Given the description of an element on the screen output the (x, y) to click on. 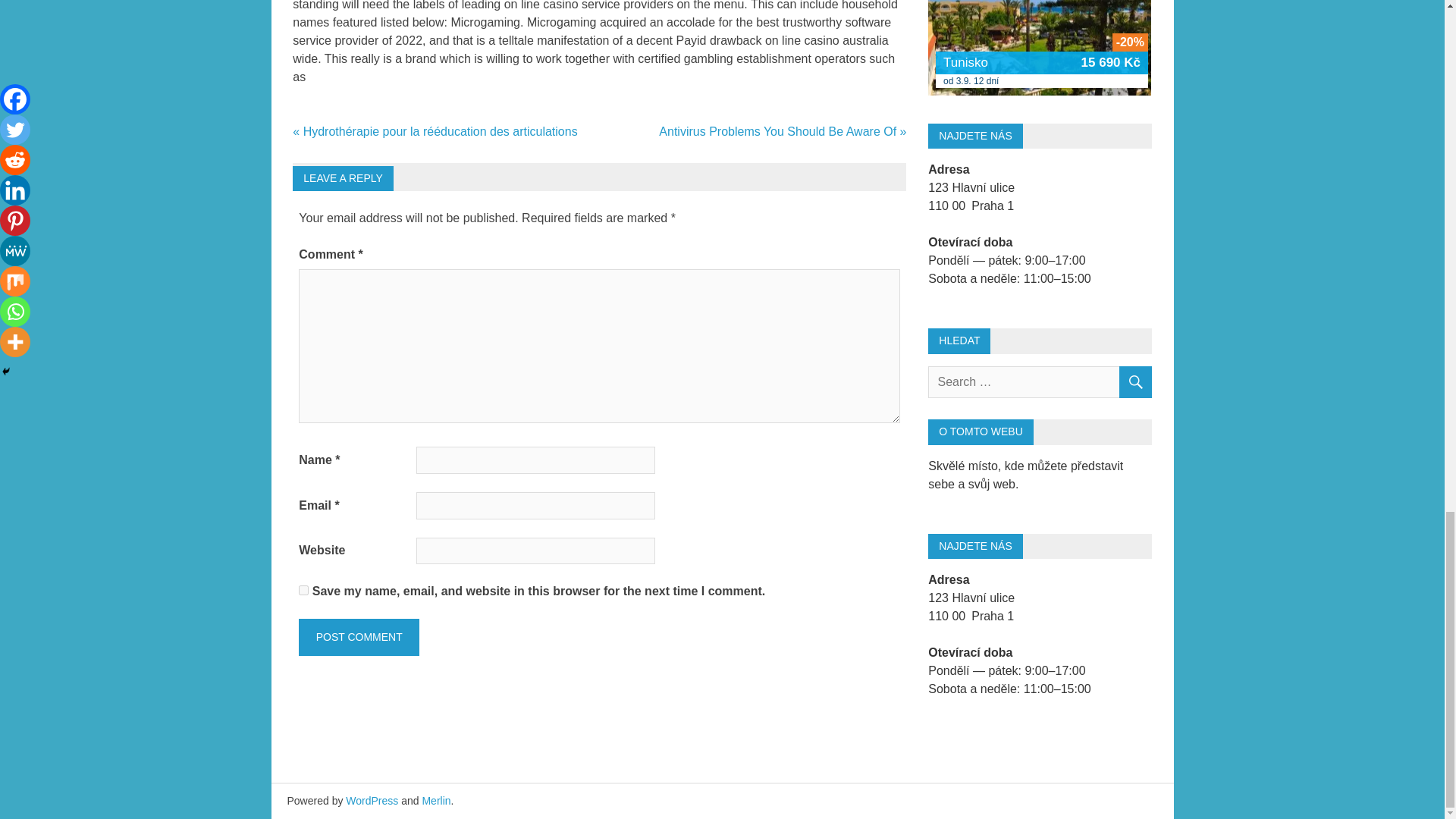
Post Comment (358, 637)
Post Comment (358, 637)
WordPress (371, 800)
Merlin (435, 800)
yes (303, 590)
